Given the description of an element on the screen output the (x, y) to click on. 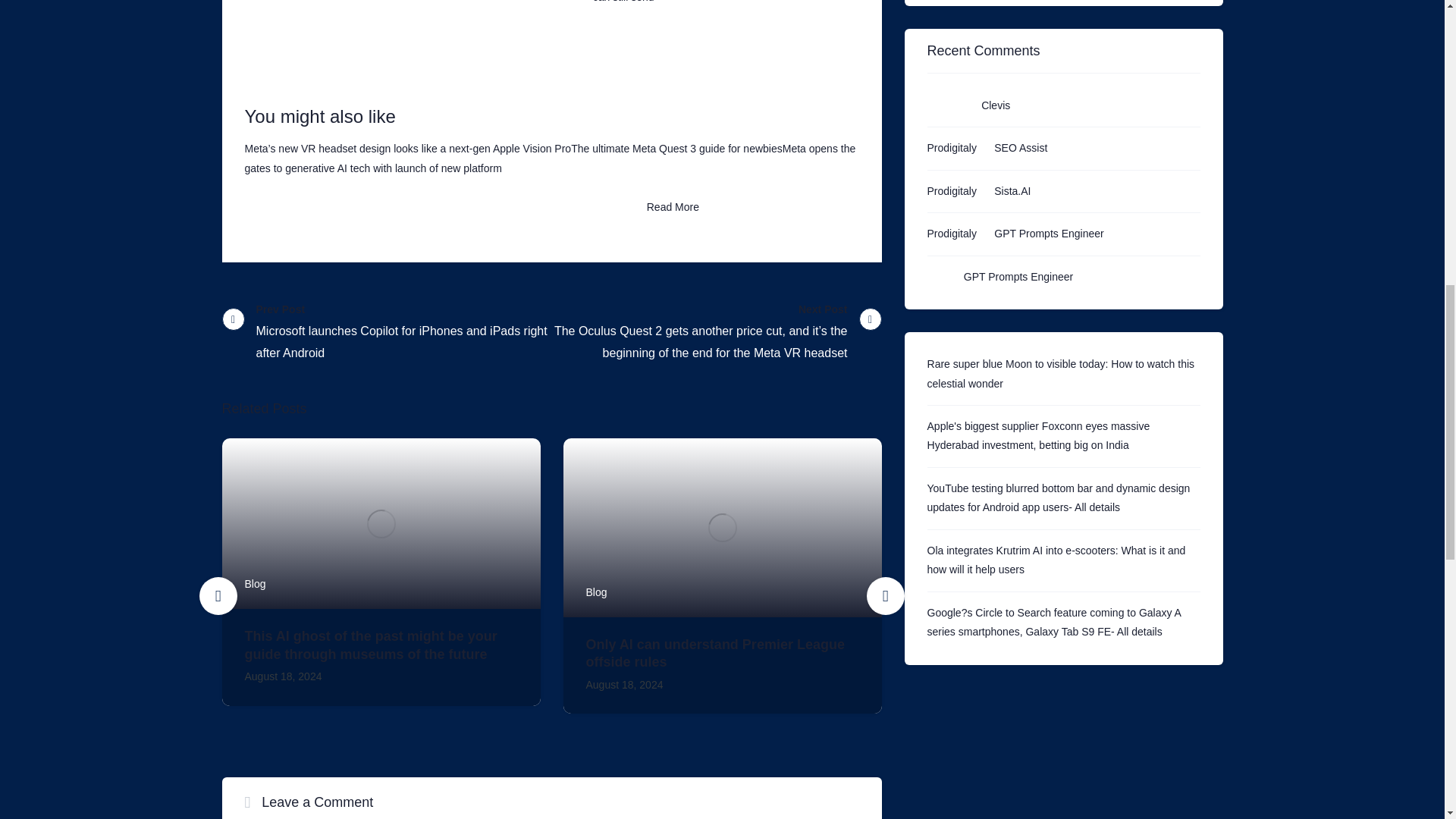
Read More (673, 206)
The ultimate Meta Quest 3 guide for newbies (676, 148)
can still send (622, 1)
